Given the description of an element on the screen output the (x, y) to click on. 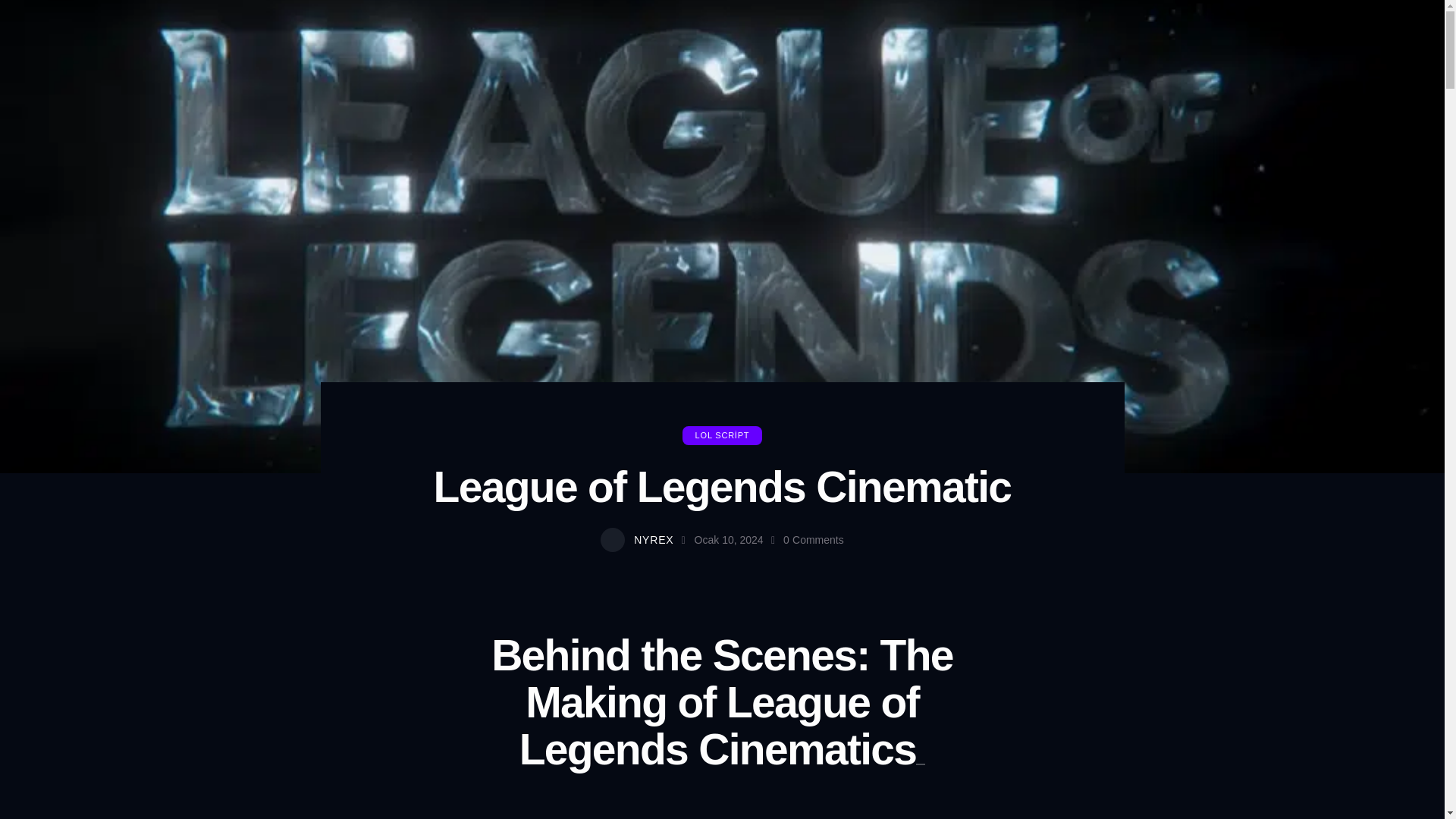
NYREX (644, 540)
0Comments (813, 539)
LOL SCRIPT (722, 435)
